Given the description of an element on the screen output the (x, y) to click on. 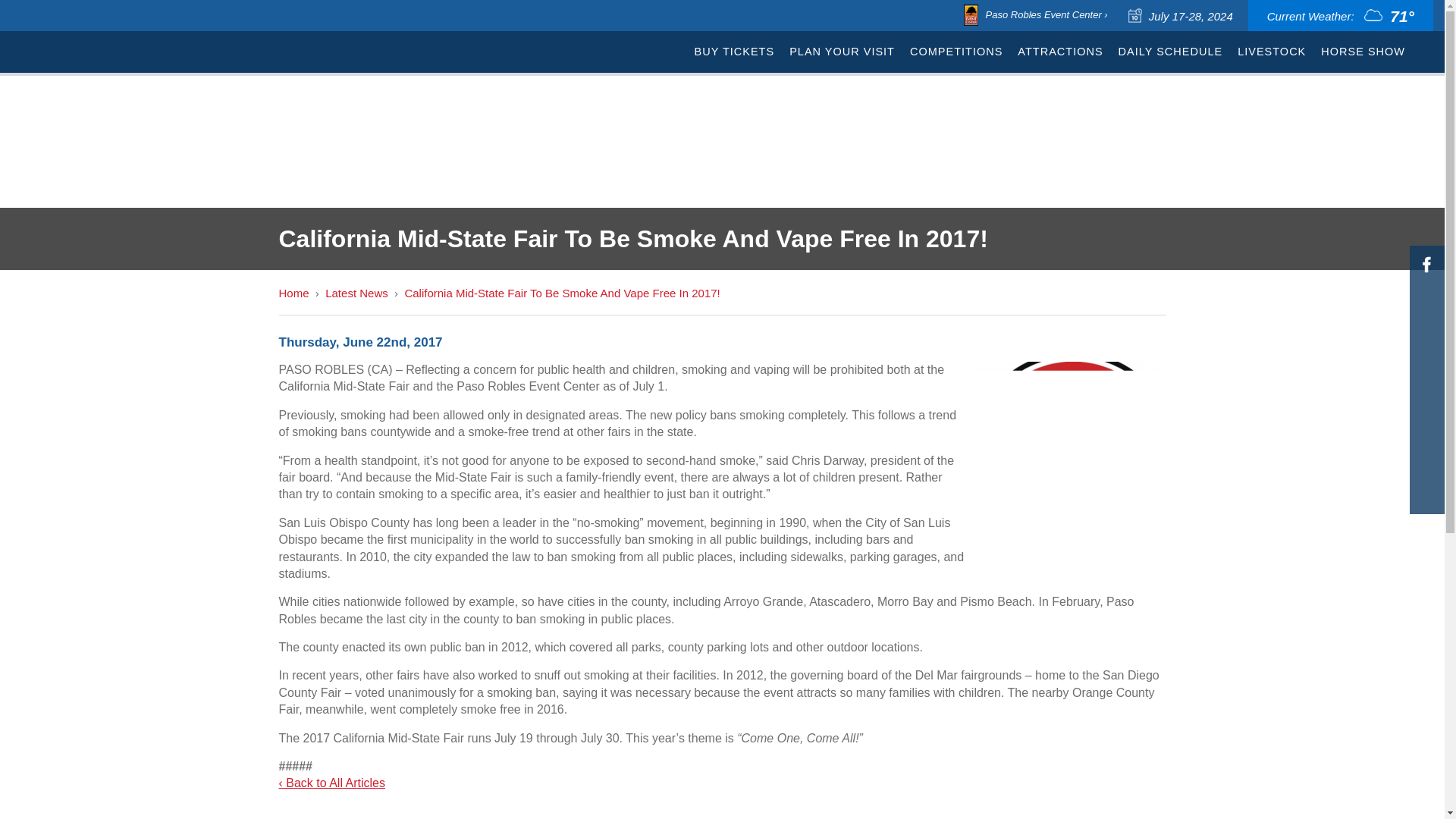
Snapchat (1426, 494)
ATTRACTIONS (1059, 51)
LIVESTOCK (1271, 51)
Twitter (1426, 321)
California Mid State Fair (81, 70)
TikTok (1426, 350)
Spotify (1426, 379)
Twitter (1426, 321)
Pinterest (1426, 437)
Snapchat (1426, 494)
LinkedIn (1426, 408)
TikTok (1426, 350)
HORSE SHOW (1362, 51)
BUY TICKETS (734, 51)
Instagram (1426, 293)
